Given the description of an element on the screen output the (x, y) to click on. 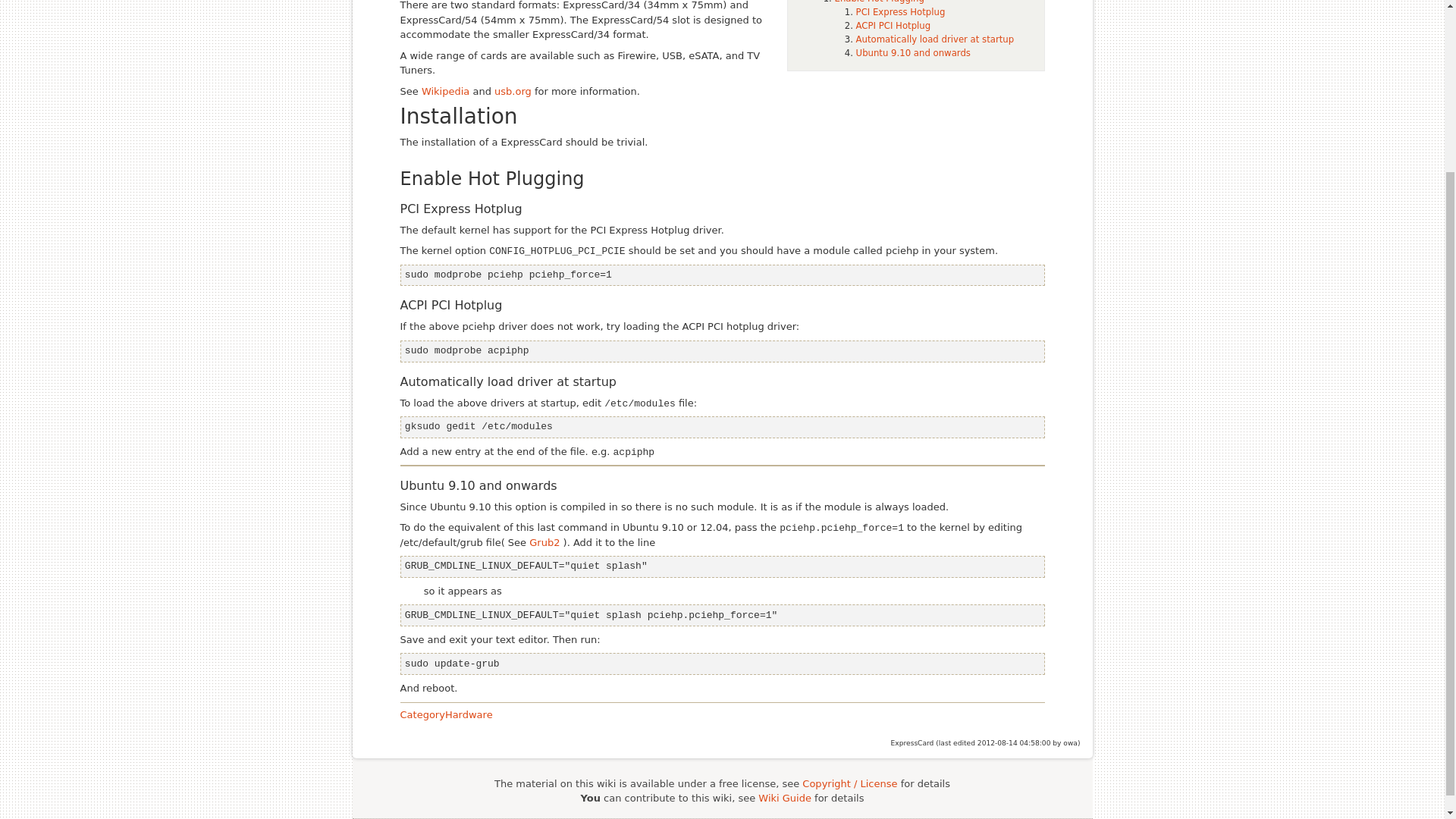
Grub2 (544, 542)
Enable Hot Plugging (878, 2)
Wikipedia (445, 91)
CategoryHardware (446, 714)
Wiki Guide (784, 797)
ACPI PCI Hotplug (893, 25)
PCI Express Hotplug (900, 11)
usb.org (513, 91)
Ubuntu 9.10 and onwards (913, 52)
Automatically load driver at startup (935, 39)
